Given the description of an element on the screen output the (x, y) to click on. 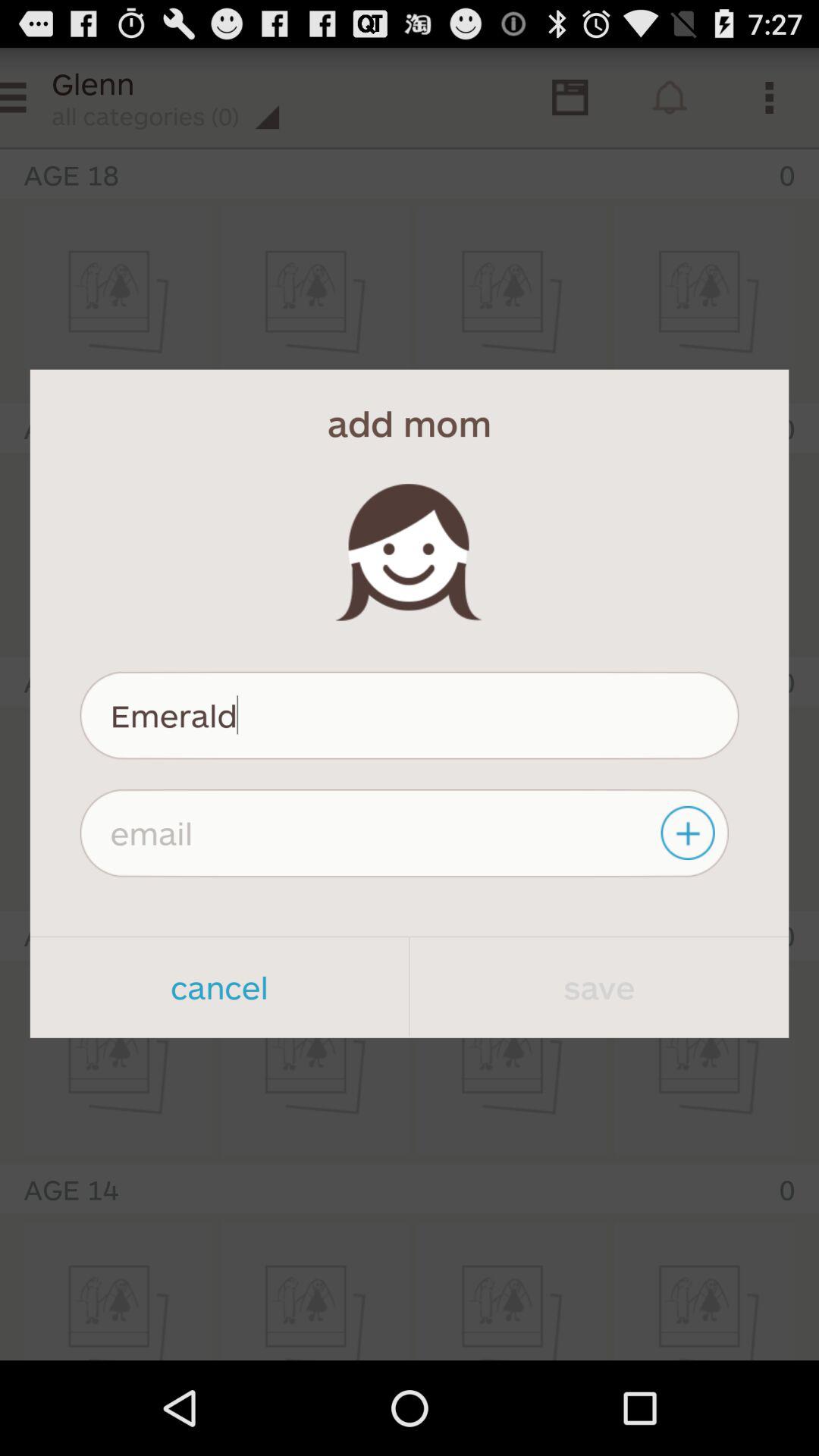
select cancel icon (219, 986)
